Given the description of an element on the screen output the (x, y) to click on. 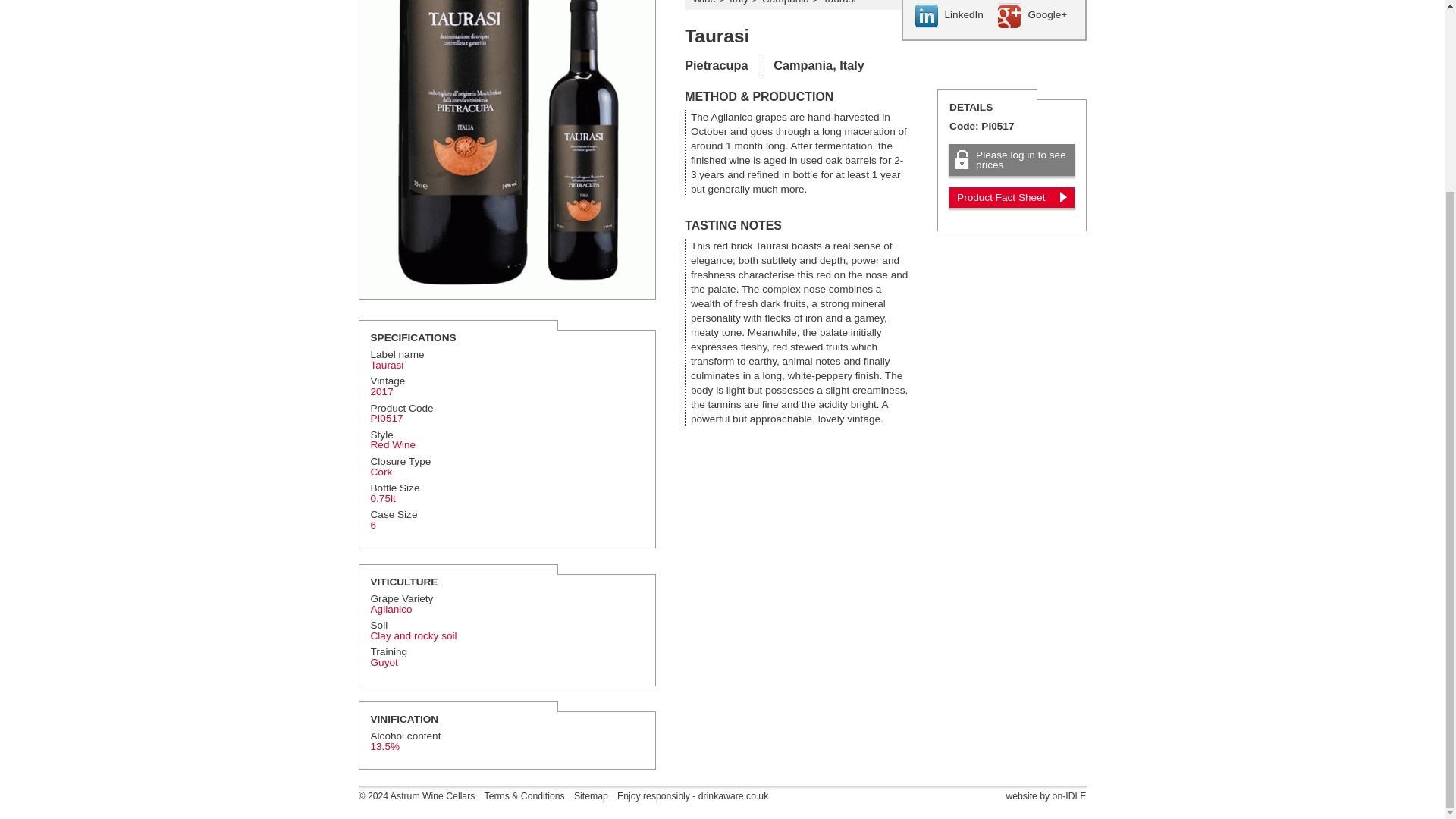
LinkedIn (952, 15)
